Given the description of an element on the screen output the (x, y) to click on. 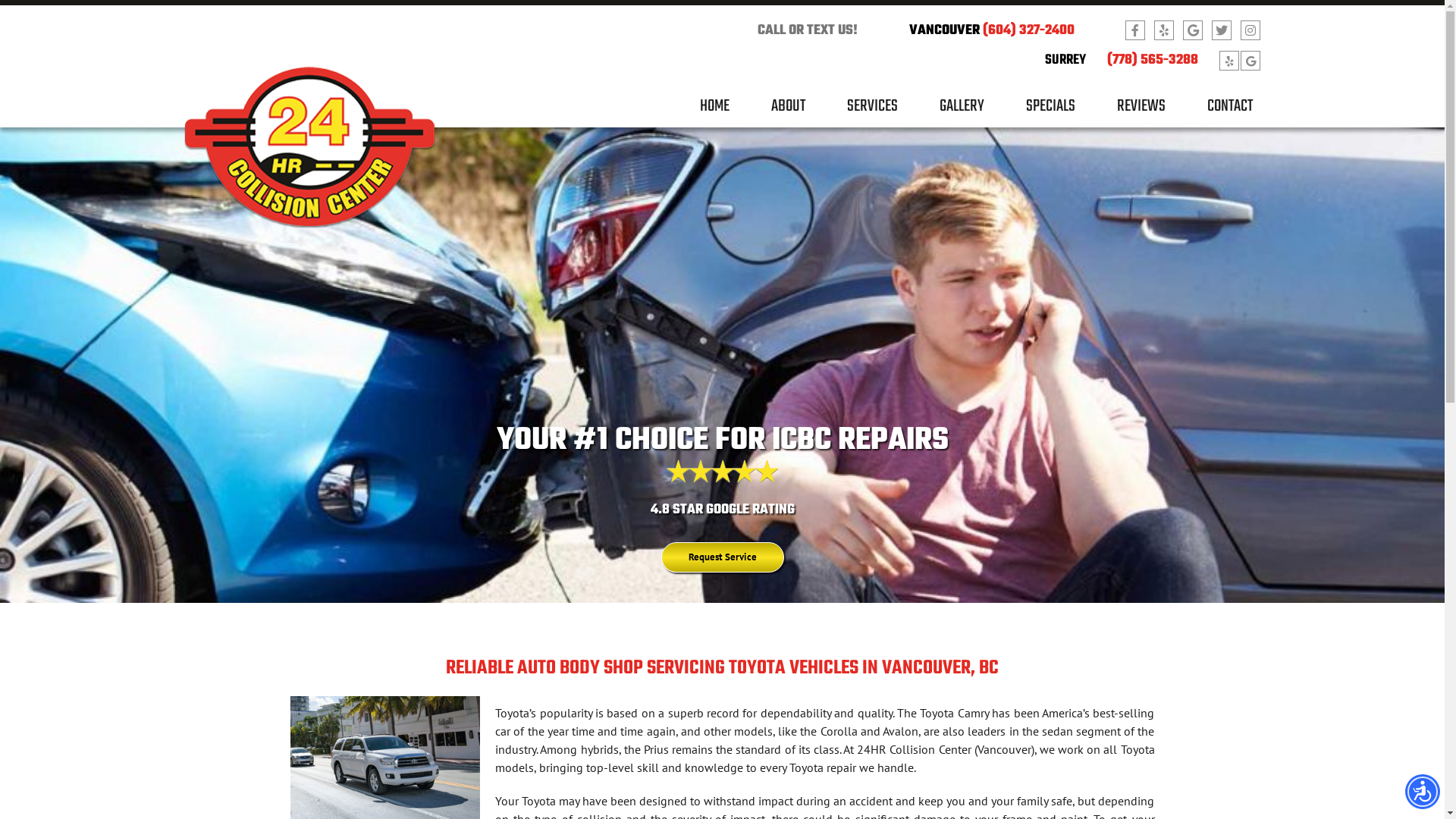
HOME Element type: text (714, 111)
SPECIALS Element type: text (1050, 111)
REVIEWS Element type: text (1141, 111)
Request Service Element type: text (722, 557)
CONTACT Element type: text (1229, 111)
ABOUT Element type: text (788, 111)
GALLERY Element type: text (961, 111)
SERVICES Element type: text (872, 111)
VANCOUVER Element type: text (944, 30)
(778) 565-3288 Element type: text (1152, 60)
(604) 327-2400 Element type: text (1028, 30)
